Given the description of an element on the screen output the (x, y) to click on. 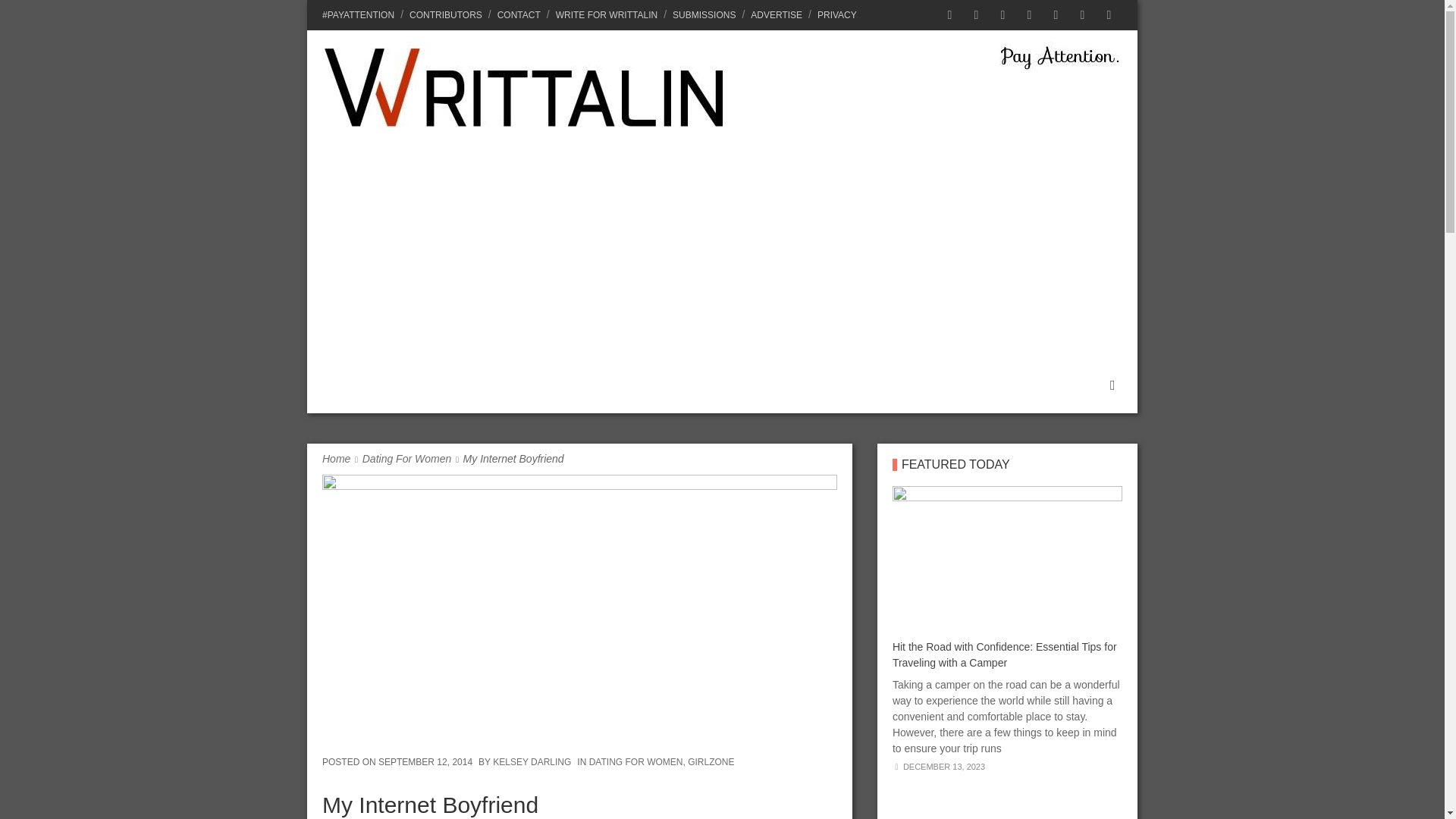
Dating For Women (406, 458)
THE SCENE (471, 384)
ADVERTISE (776, 14)
KELSEY DARLING (531, 761)
WRITE FOR WRITTALIN (606, 14)
GALLERY (1010, 384)
MANZNE (557, 384)
PRIVACY (833, 14)
A.D.D.STREAM (365, 384)
DATING FOR WOMEN (635, 761)
GIRLZONE (710, 761)
Posts by Kelsey Darling (531, 761)
GIRLZNE (637, 384)
CONTACT (519, 14)
